Given the description of an element on the screen output the (x, y) to click on. 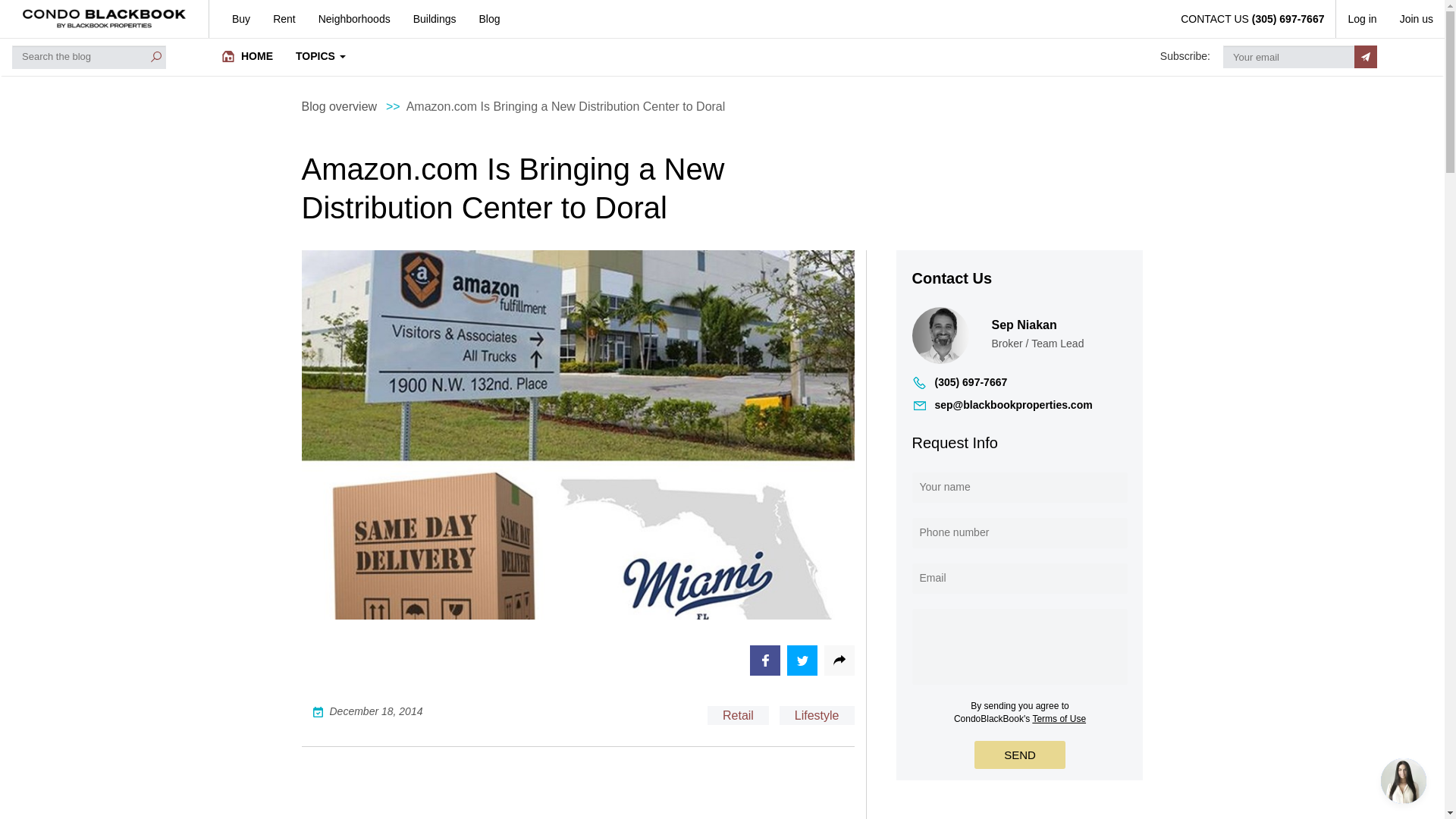
Advertisement (577, 795)
Buy (235, 18)
